Given the description of an element on the screen output the (x, y) to click on. 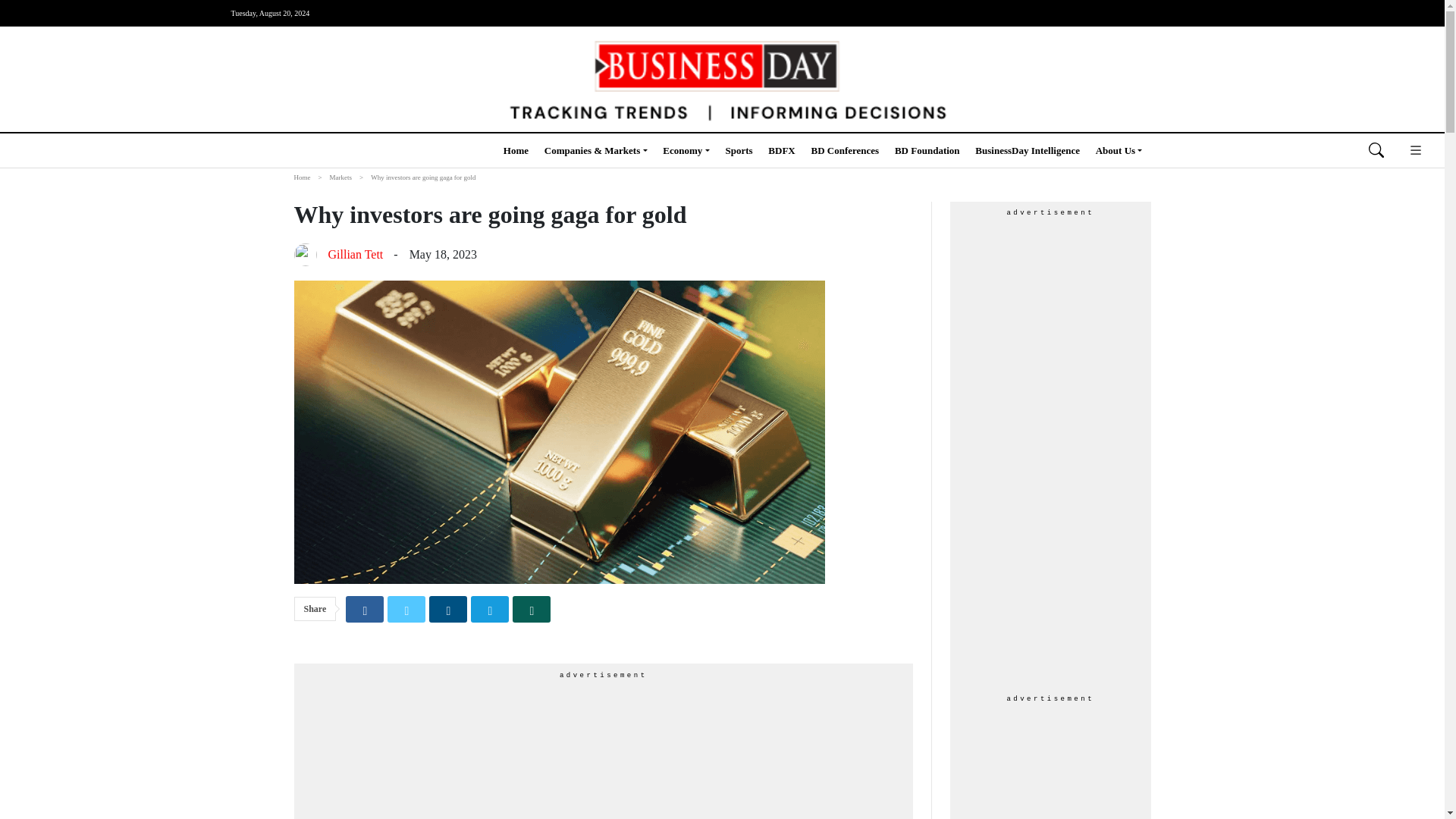
BD Conferences (844, 149)
BD Foundation (927, 149)
Economy (685, 149)
BusinessDay Intelligence (1027, 149)
About Us (1119, 149)
BD Foundation (927, 149)
Economy (685, 149)
BD Conferences (844, 149)
About Us (1119, 149)
BusinessDay Intelligence (1027, 149)
